Given the description of an element on the screen output the (x, y) to click on. 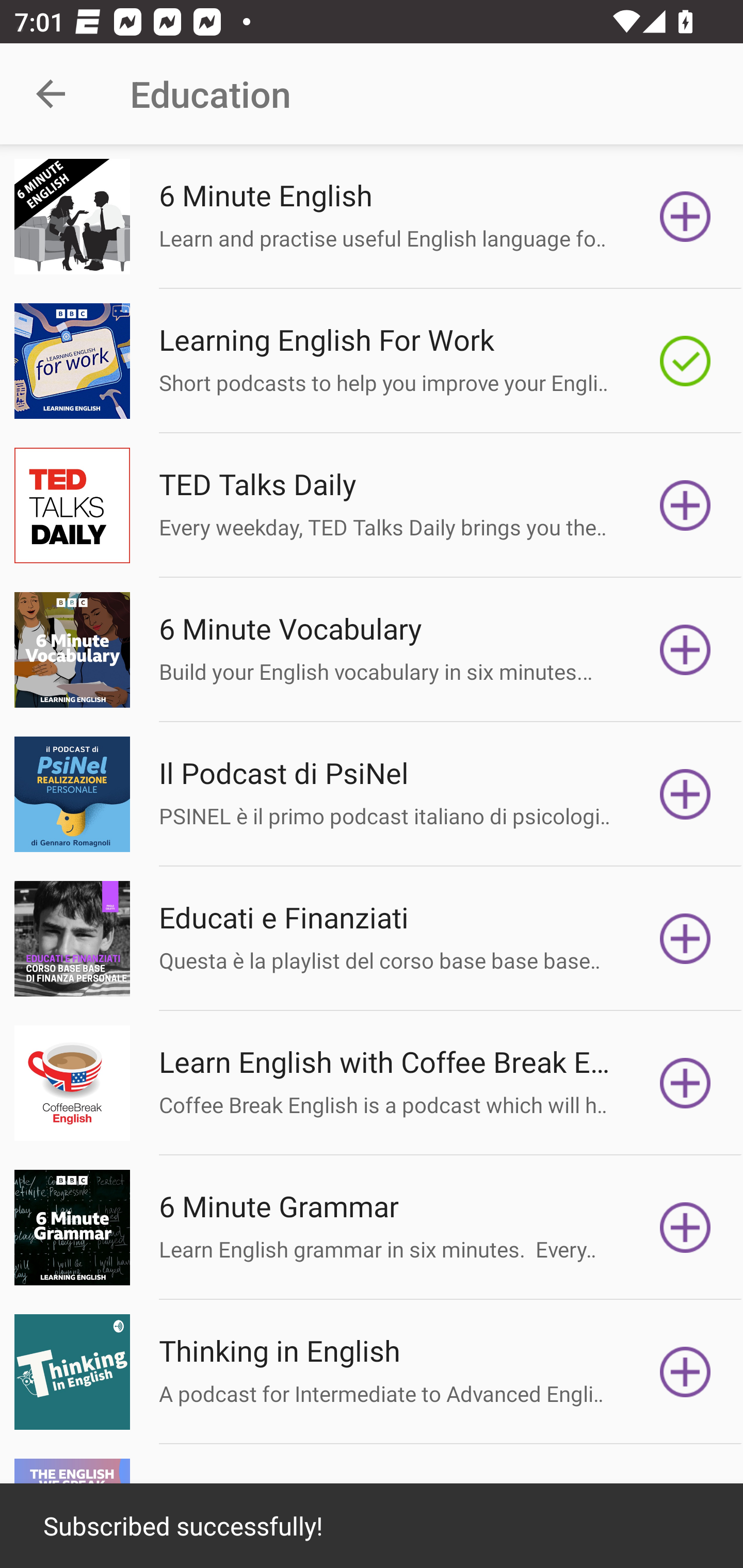
Navigate up (50, 93)
Subscribe (685, 216)
Subscribed (685, 360)
Subscribe (685, 505)
Subscribe (685, 649)
Subscribe (685, 793)
Subscribe (685, 939)
Subscribe (685, 1083)
Subscribe (685, 1227)
Subscribe (685, 1371)
Subscribed successfully! (371, 1525)
